Given the description of an element on the screen output the (x, y) to click on. 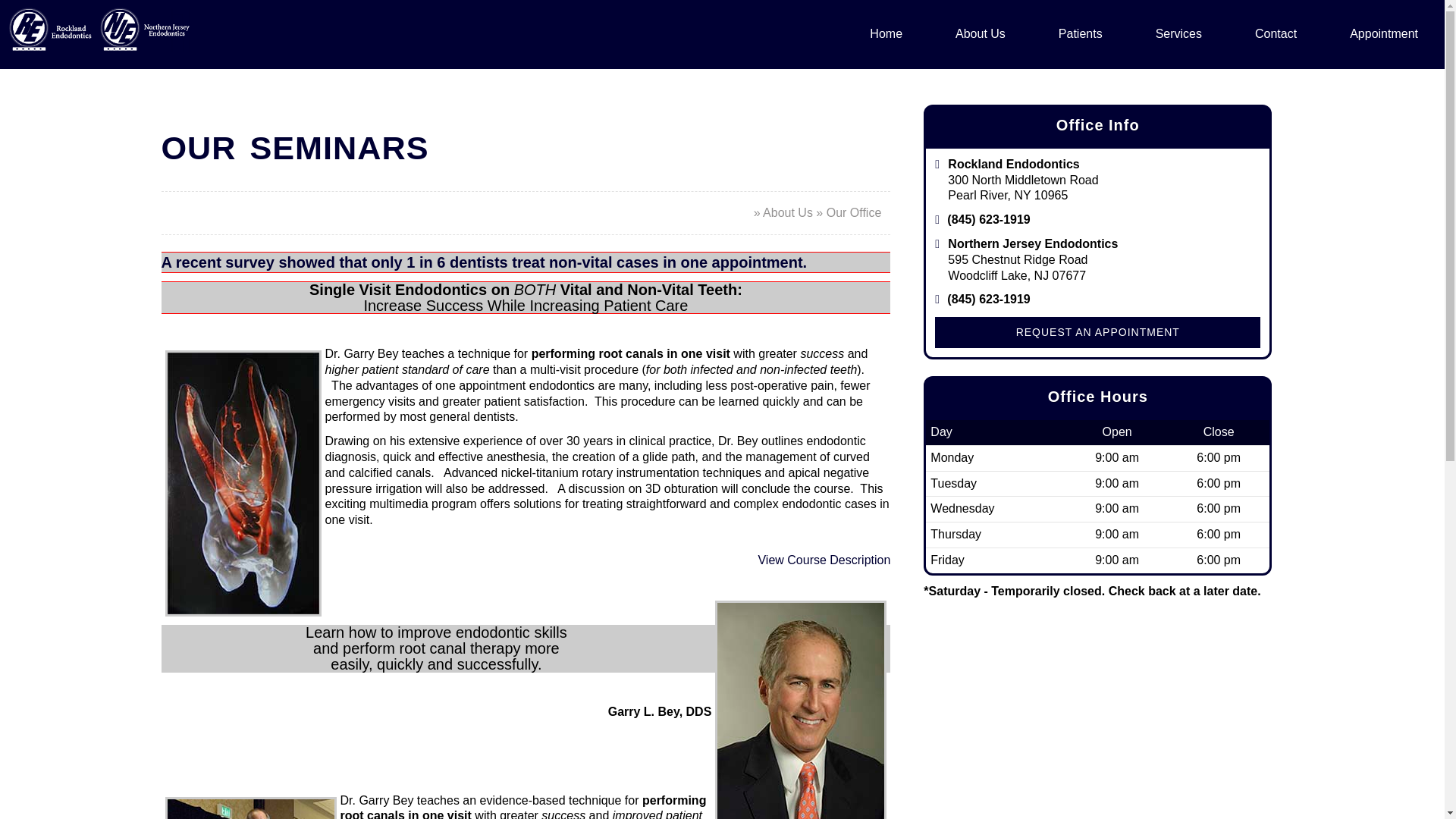
Contact (1275, 34)
About Us (980, 34)
View Course Description (823, 560)
Home (885, 34)
REQUEST AN APPOINTMENT (1097, 332)
Services (1178, 34)
Patients (1080, 34)
